Given the description of an element on the screen output the (x, y) to click on. 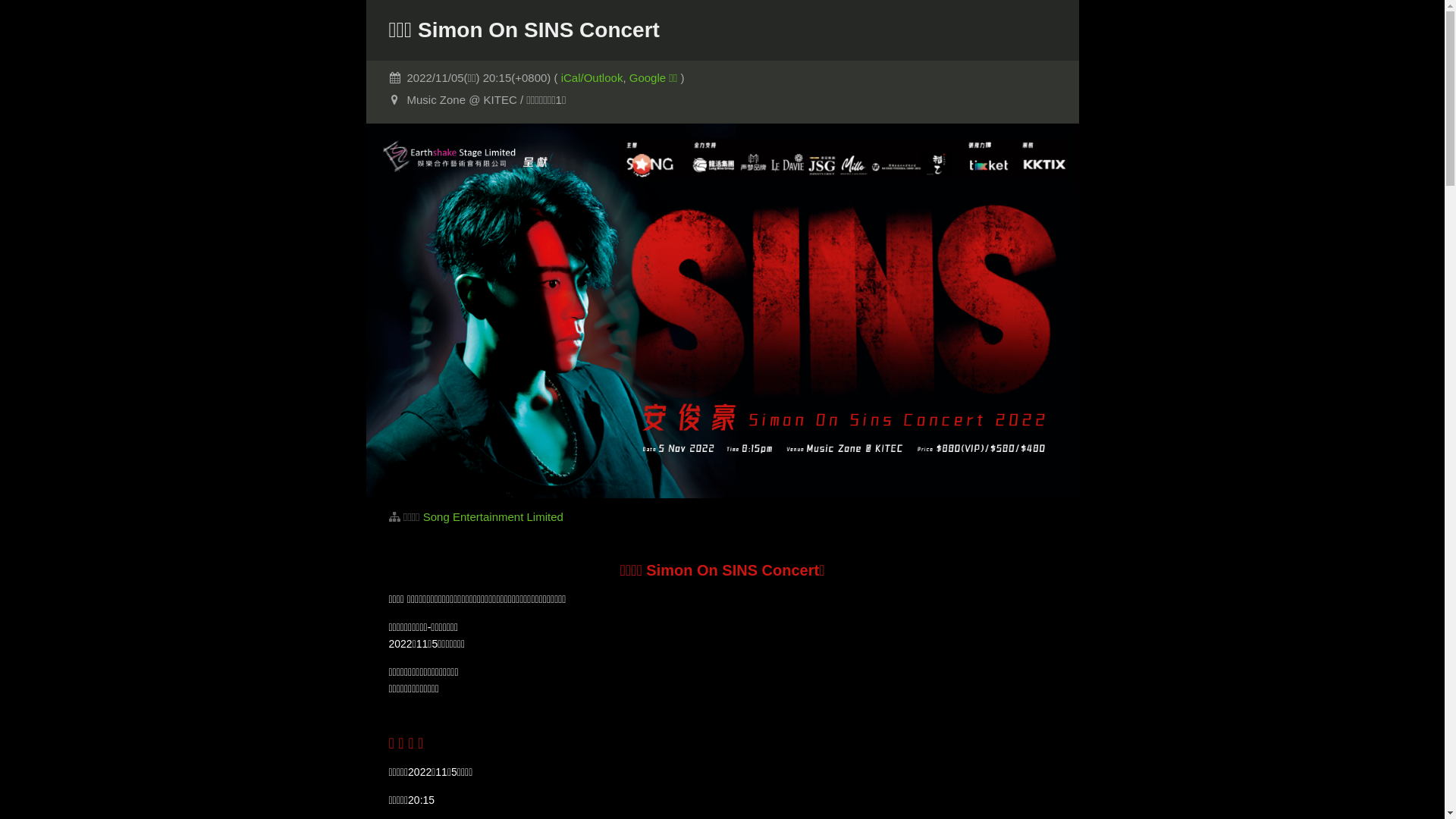
iCal/Outlook Element type: text (592, 77)
Song Entertainment Limited Element type: text (493, 515)
